Given the description of an element on the screen output the (x, y) to click on. 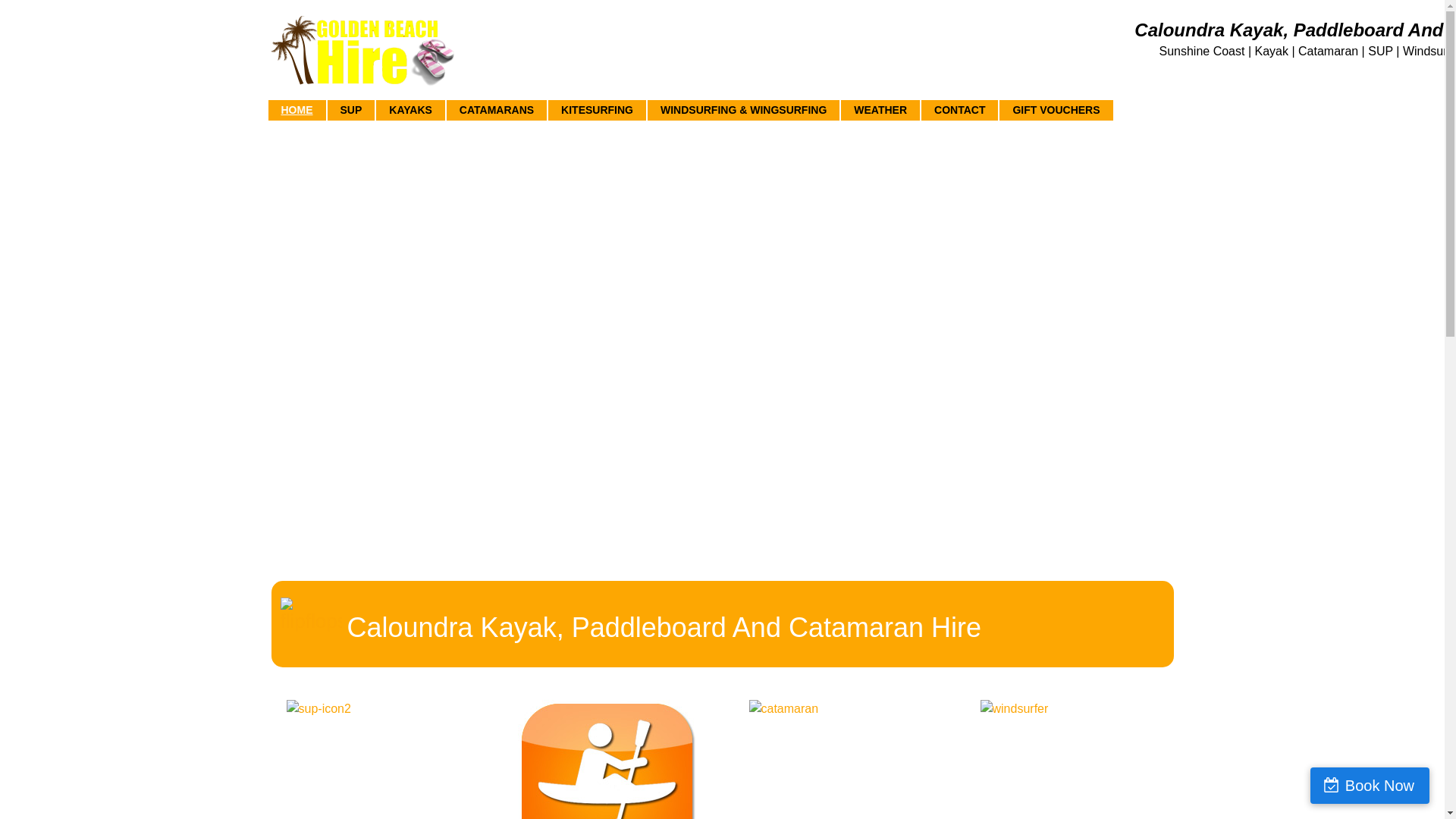
HOME Element type: text (297, 110)
SUP Element type: text (351, 110)
CATAMARANS Element type: text (496, 110)
GIFT VOUCHERS Element type: text (1055, 110)
KAYAKS Element type: text (410, 110)
KITESURFING Element type: text (597, 110)
WEATHER Element type: text (879, 110)
Book Now Element type: text (1369, 785)
CONTACT Element type: text (959, 110)
WINDSURFING & WINGSURFING Element type: text (743, 110)
